Given the description of an element on the screen output the (x, y) to click on. 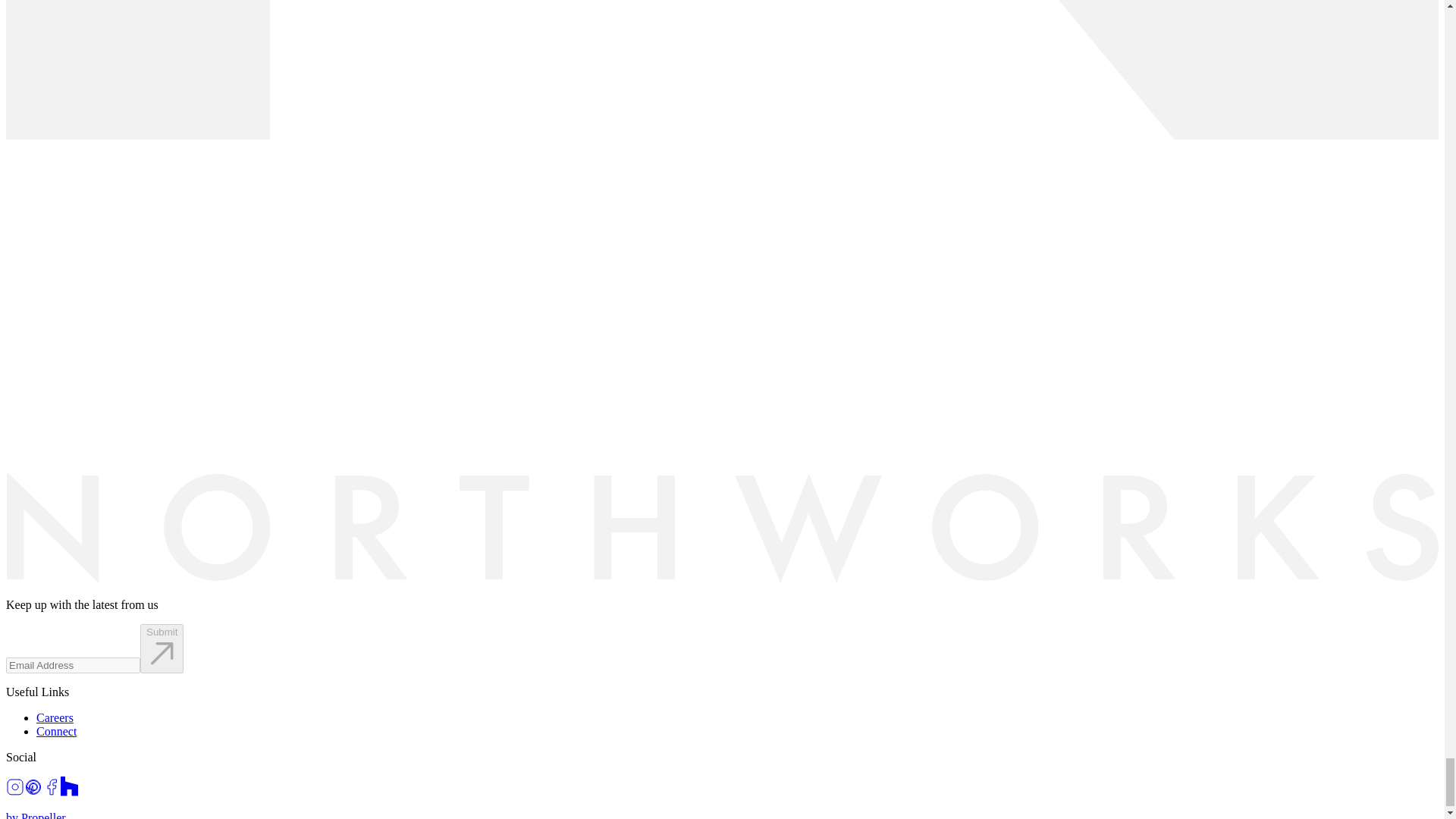
Careers (55, 717)
Connect (56, 730)
